Given the description of an element on the screen output the (x, y) to click on. 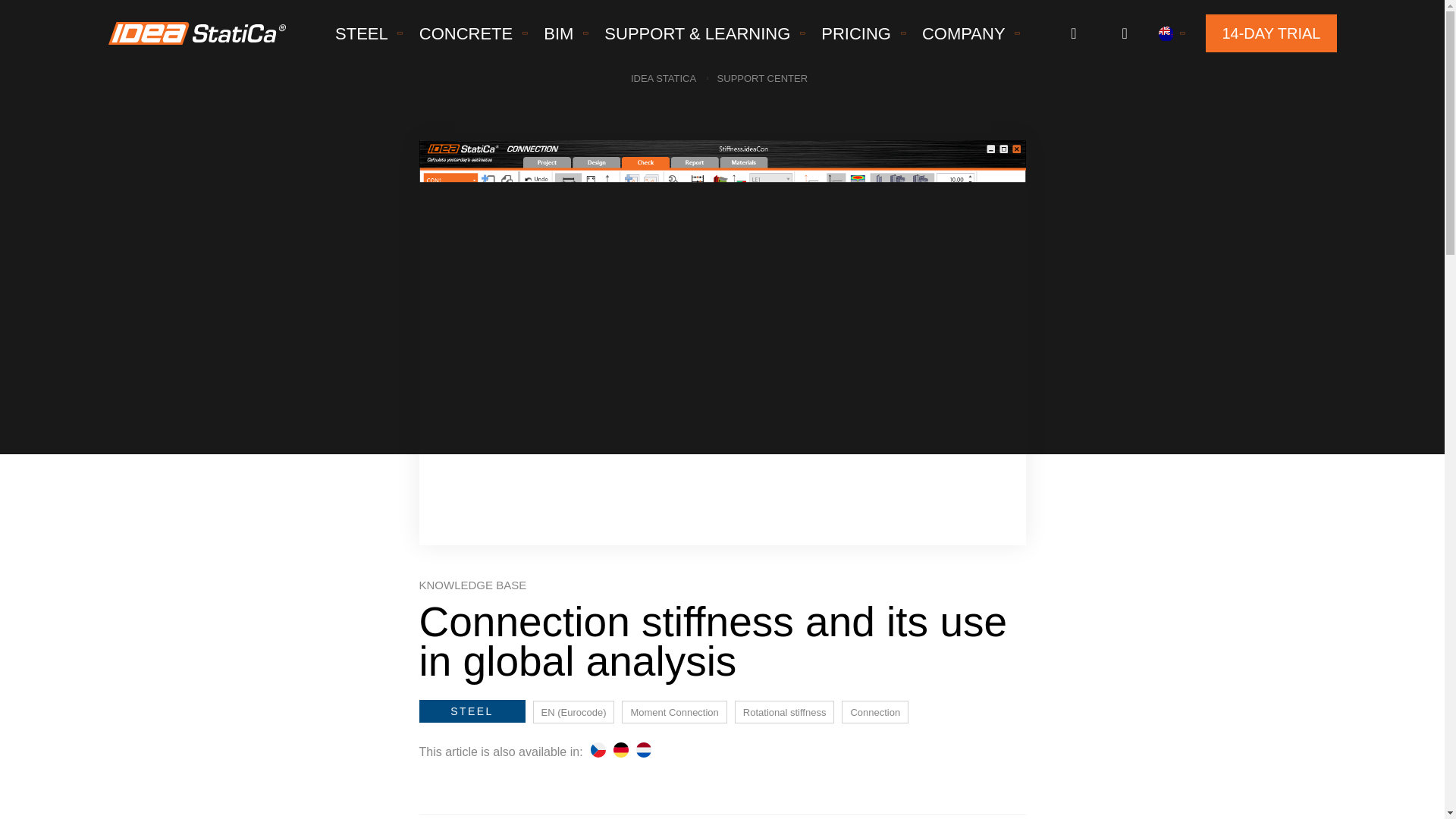
STEEL (361, 33)
14-DAY TRIAL (1270, 33)
Portal (1072, 33)
Pricing (855, 33)
Steel (361, 33)
CONCRETE (465, 33)
PRICING (855, 33)
COMPANY (963, 33)
Concrete (465, 33)
